Given the description of an element on the screen output the (x, y) to click on. 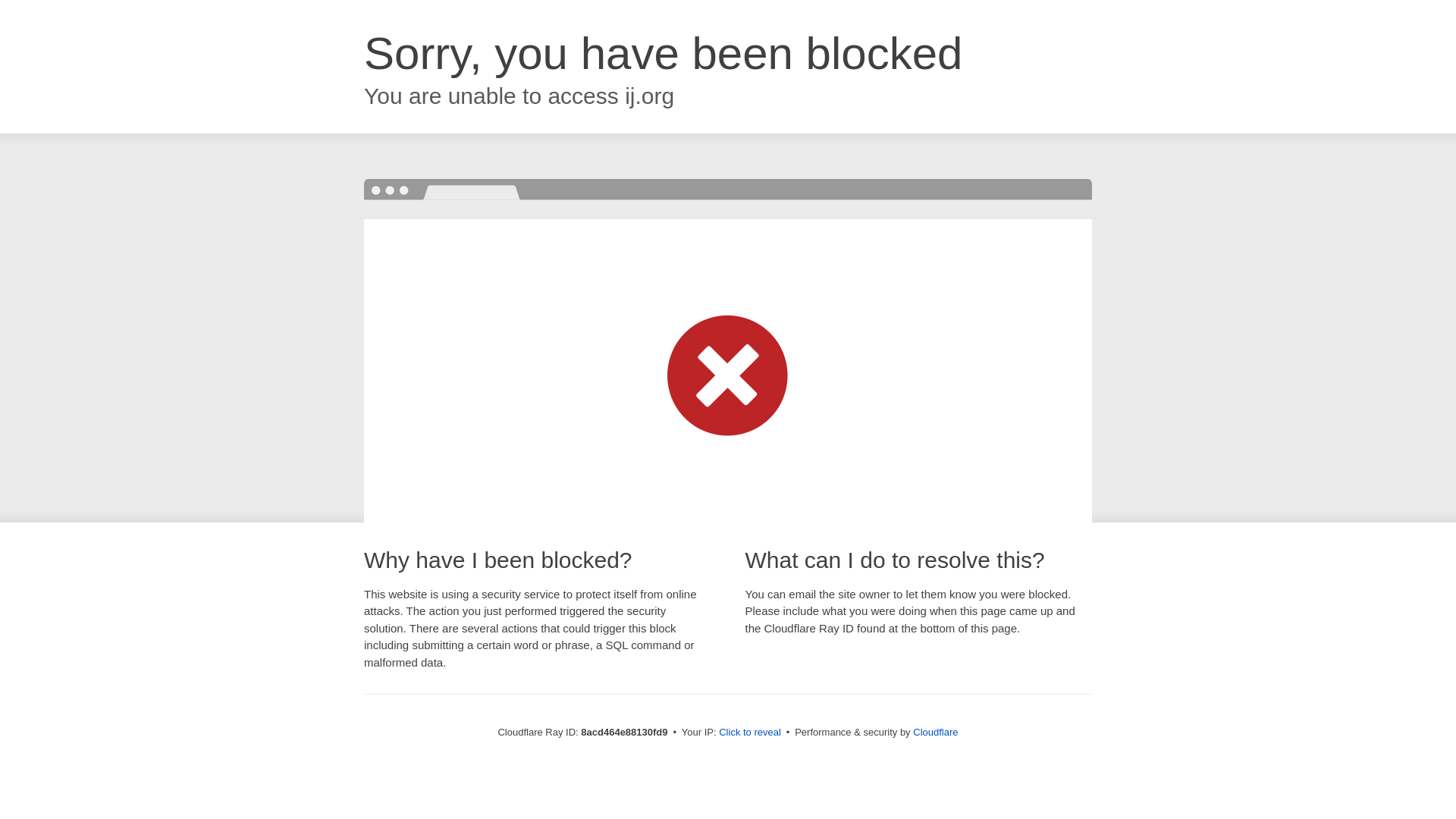
Cloudflare (935, 731)
Click to reveal (749, 732)
